Given the description of an element on the screen output the (x, y) to click on. 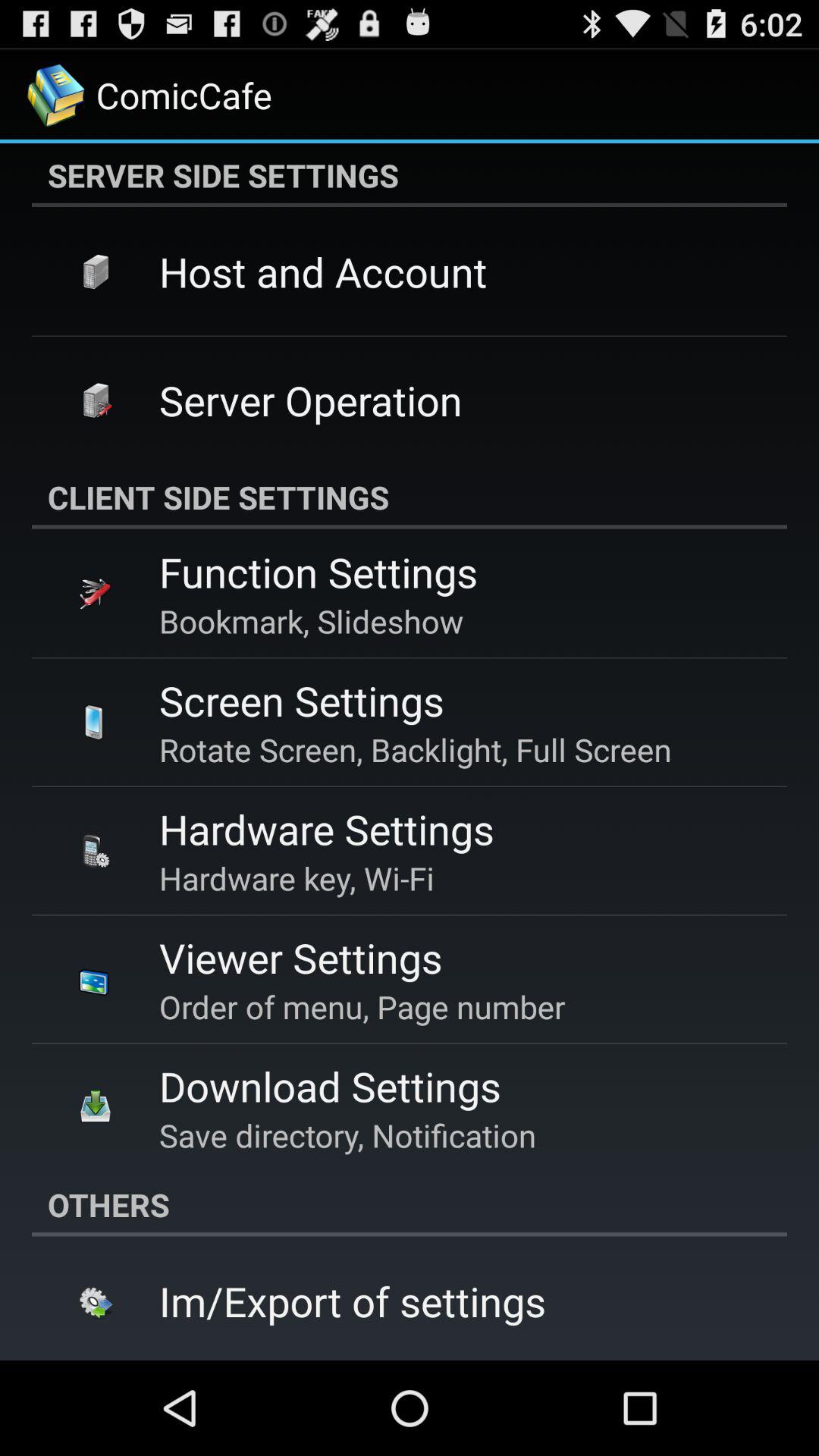
tap function settings item (318, 571)
